Given the description of an element on the screen output the (x, y) to click on. 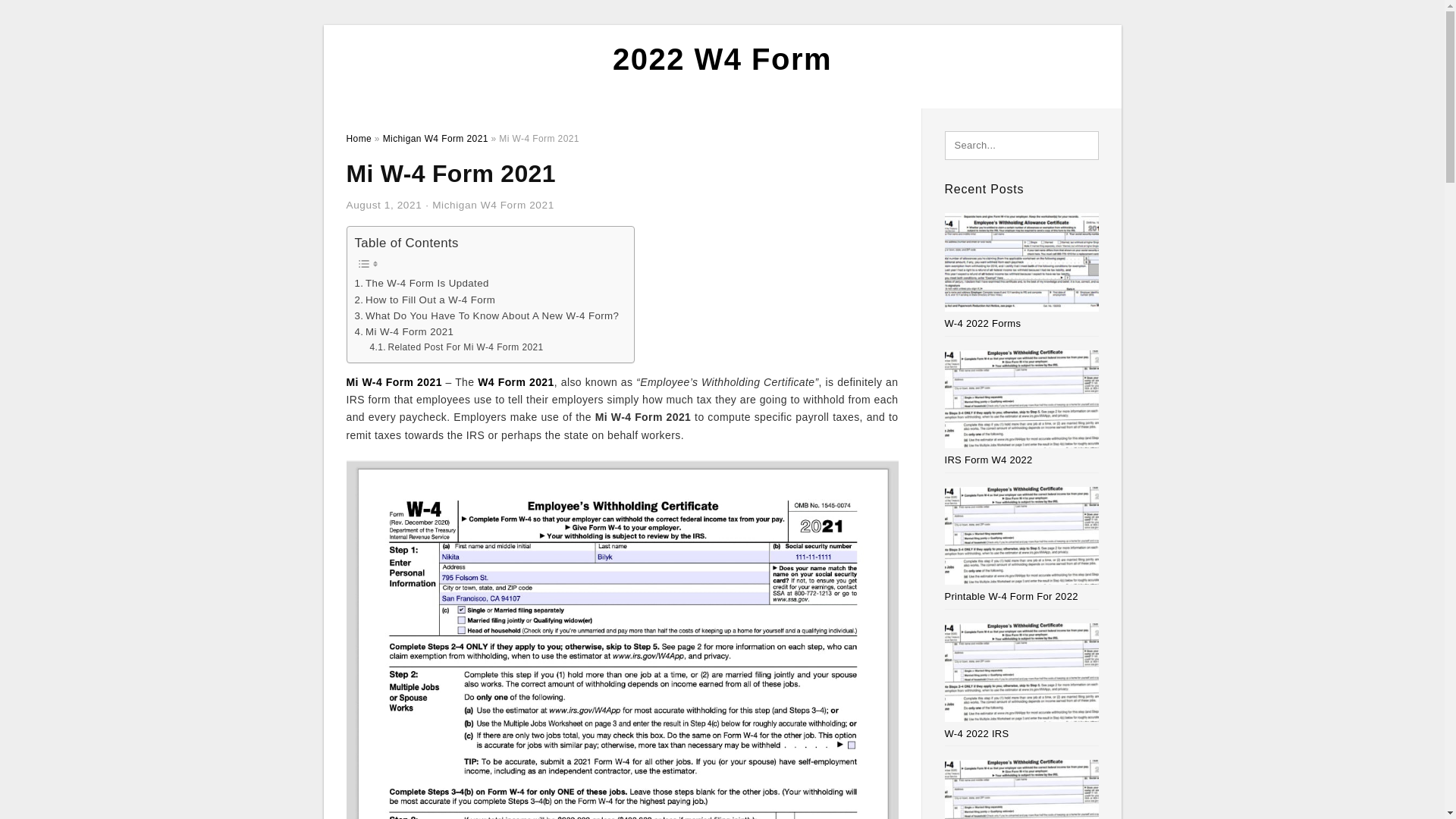
W-4 2022 Forms (983, 323)
2022 W4 Form (721, 59)
Mi W-4 Form 2021 (393, 381)
Search (43, 15)
Michigan W4 Form 2021 (493, 204)
How to Fill Out a W-4 Form (425, 299)
Michigan W4 Form 2021 (434, 138)
The W-4 Form Is Updated (422, 283)
The W-4 Form Is Updated (422, 283)
What Do You Have To Know About A New W-4 Form? (487, 315)
Related Post For Mi W-4 Form 2021 (456, 347)
W4 Form 2021 (515, 381)
How to Fill Out a W-4 Form (425, 299)
